Given the description of an element on the screen output the (x, y) to click on. 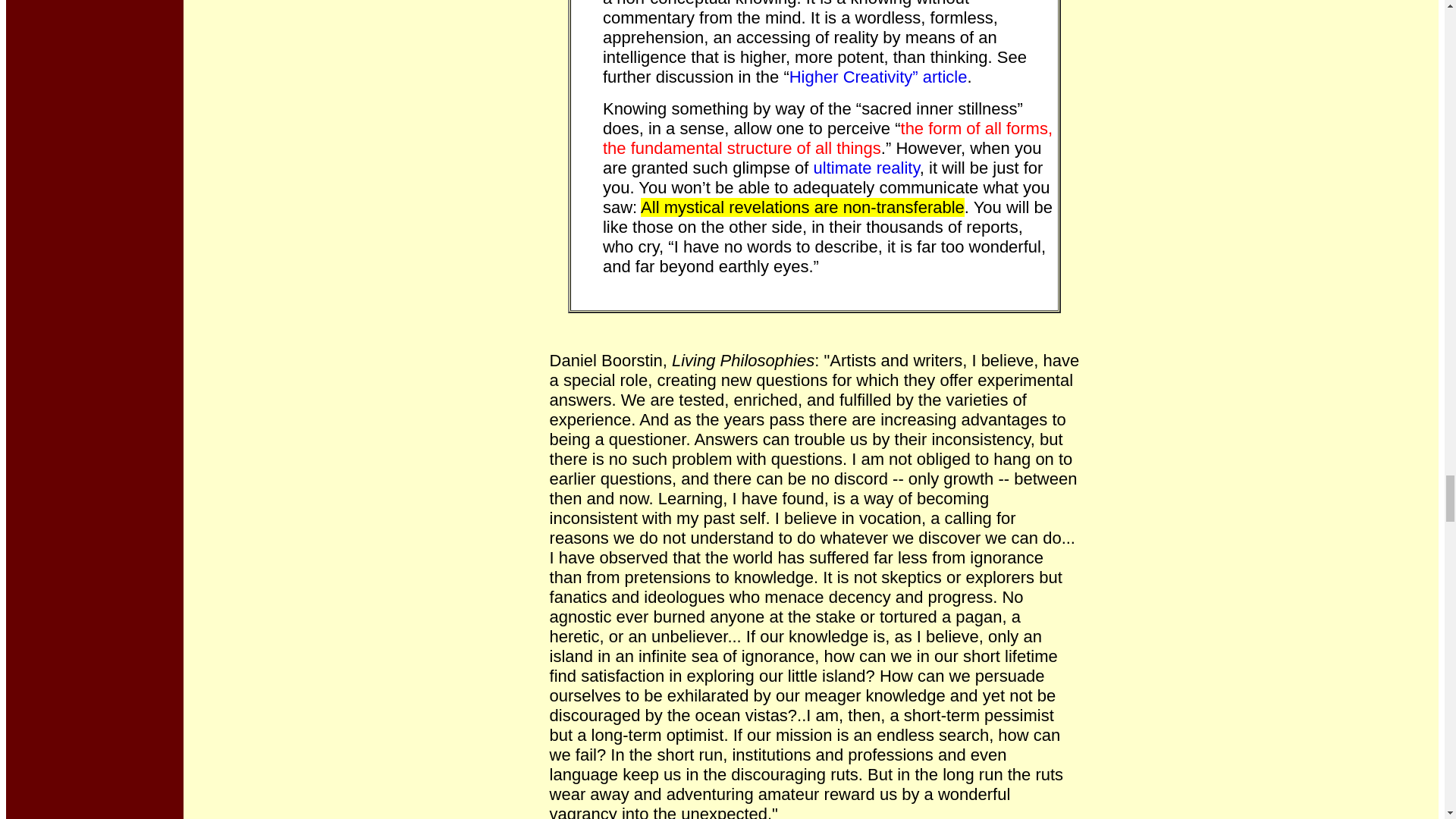
ultimate reality (866, 167)
